Given the description of an element on the screen output the (x, y) to click on. 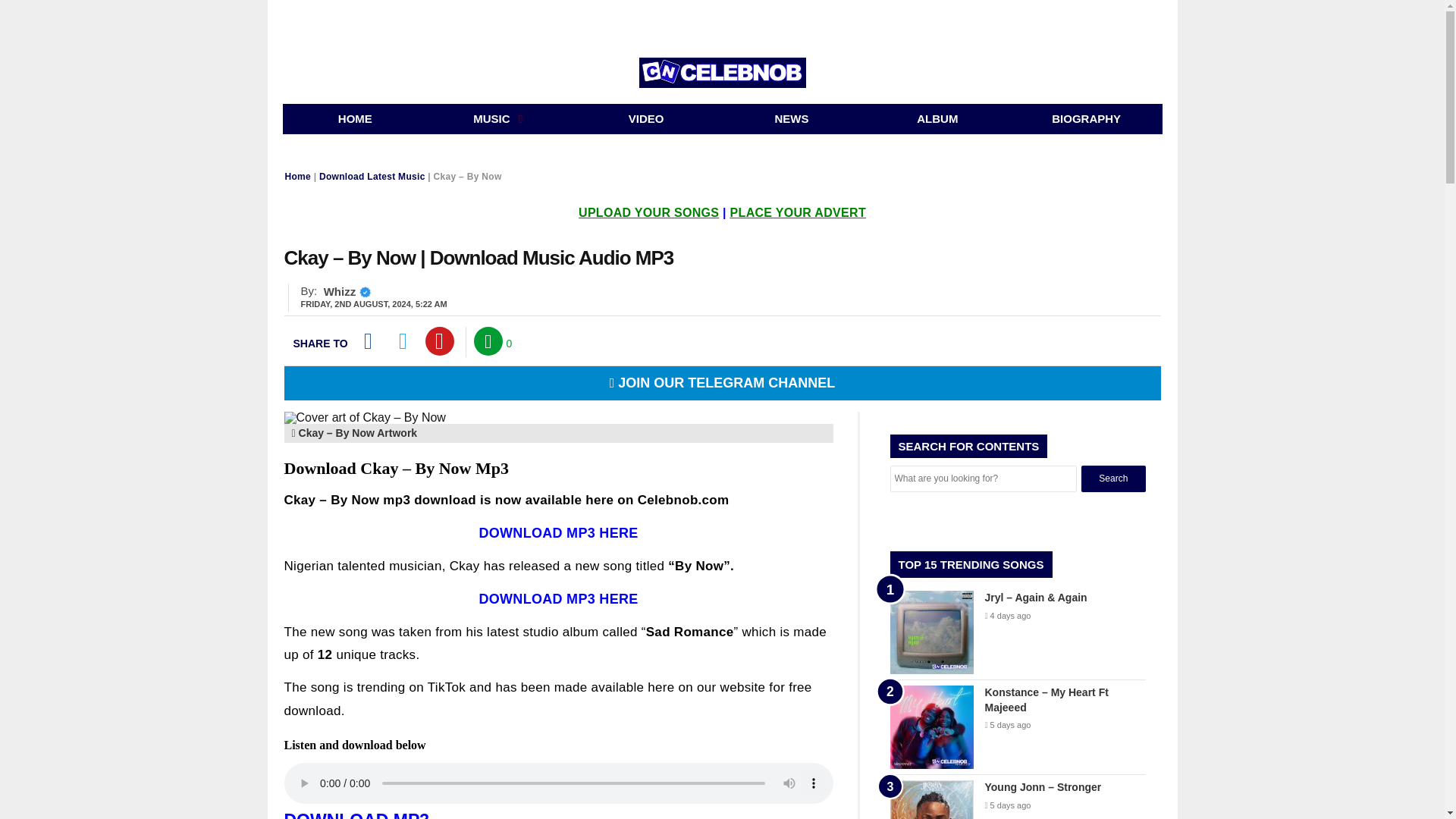
Whizz (339, 291)
DOWNLOAD MP3 (356, 814)
HOME (355, 119)
VIDEO (646, 119)
DOWNLOAD MP3 HERE (558, 532)
UPLOAD YOUR SONGS (648, 212)
pinterest (439, 340)
Posts by Whizz (339, 291)
Facebook (366, 340)
Videos (646, 119)
